Given the description of an element on the screen output the (x, y) to click on. 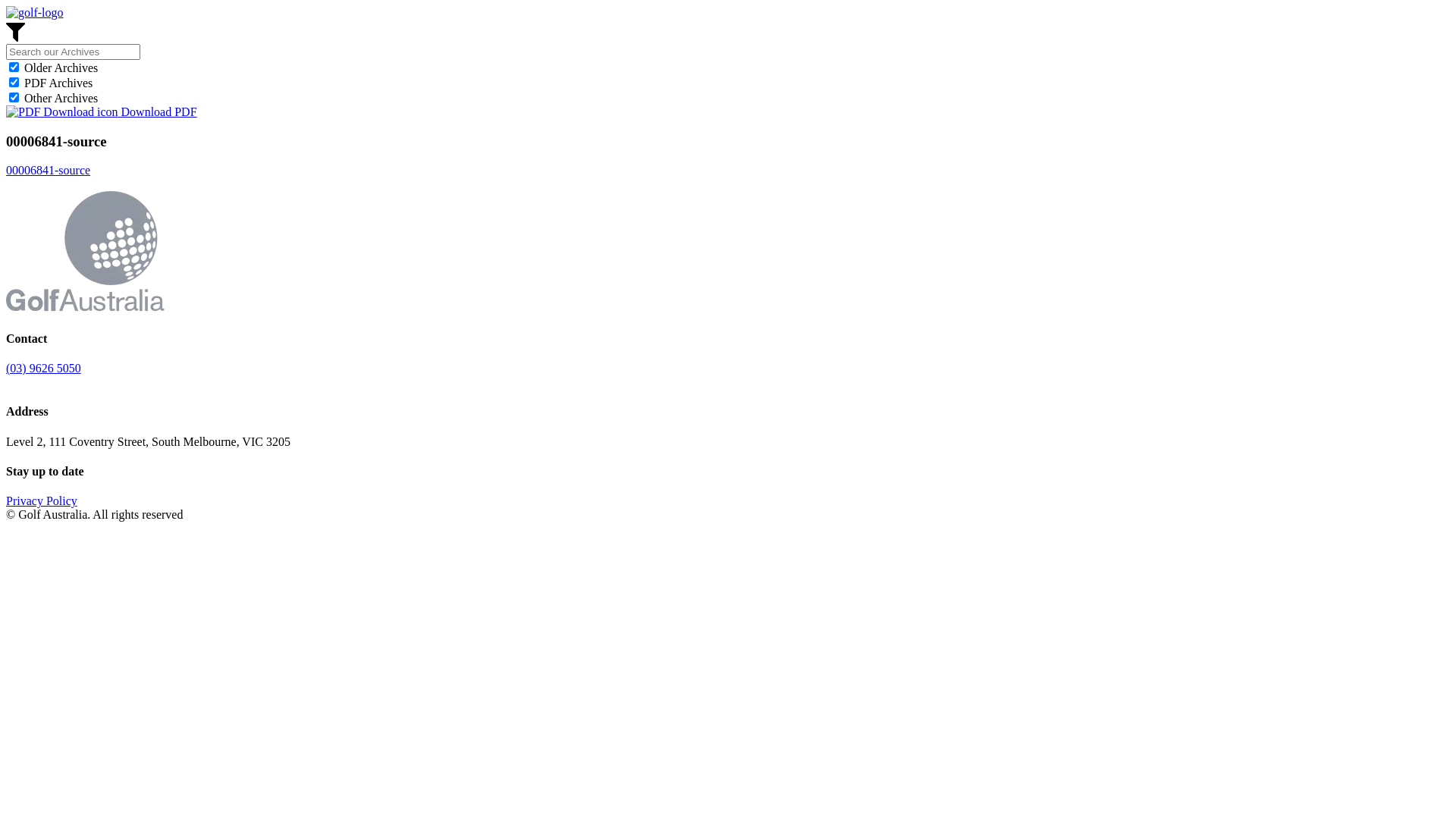
(03) 9626 5050 Element type: text (43, 367)
Privacy Policy Element type: text (41, 500)
Download PDF Element type: text (101, 111)
00006841-source Element type: text (48, 169)
